Given the description of an element on the screen output the (x, y) to click on. 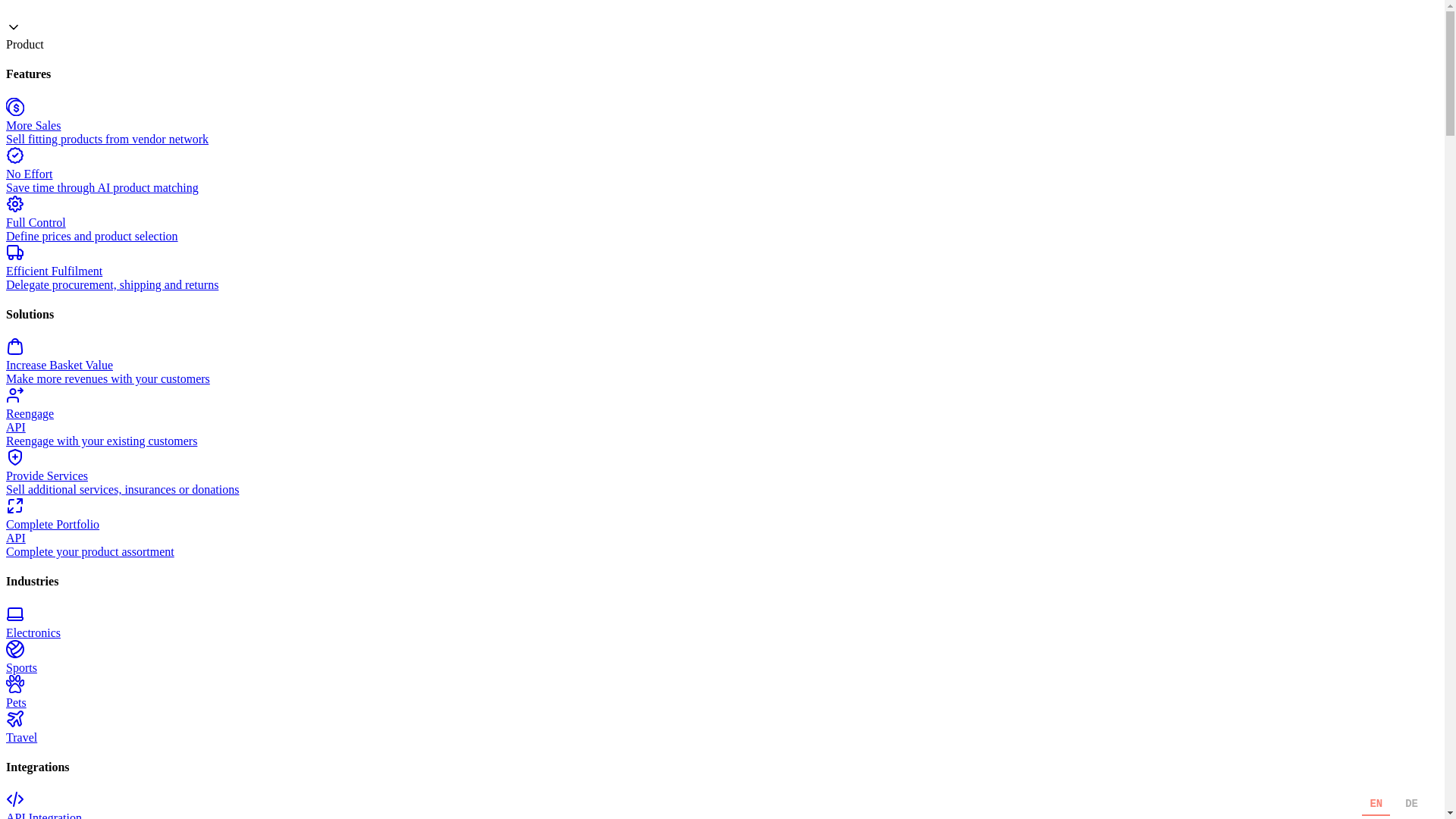
No Effort
Save time through AI product matching Element type: text (722, 170)
Electronics Element type: text (722, 622)
Increase Basket Value
Make more revenues with your customers Element type: text (722, 361)
Complete Portfolio
API
Complete your product assortment Element type: text (722, 527)
Reengage
API
Reengage with your existing customers Element type: text (722, 416)
More Sales
Sell fitting products from vendor network Element type: text (722, 121)
DE Element type: text (1411, 803)
Full Control
Define prices and product selection Element type: text (722, 218)
Sports Element type: text (722, 657)
Pets Element type: text (722, 691)
Travel Element type: text (722, 726)
EN Element type: text (1375, 803)
